Given the description of an element on the screen output the (x, y) to click on. 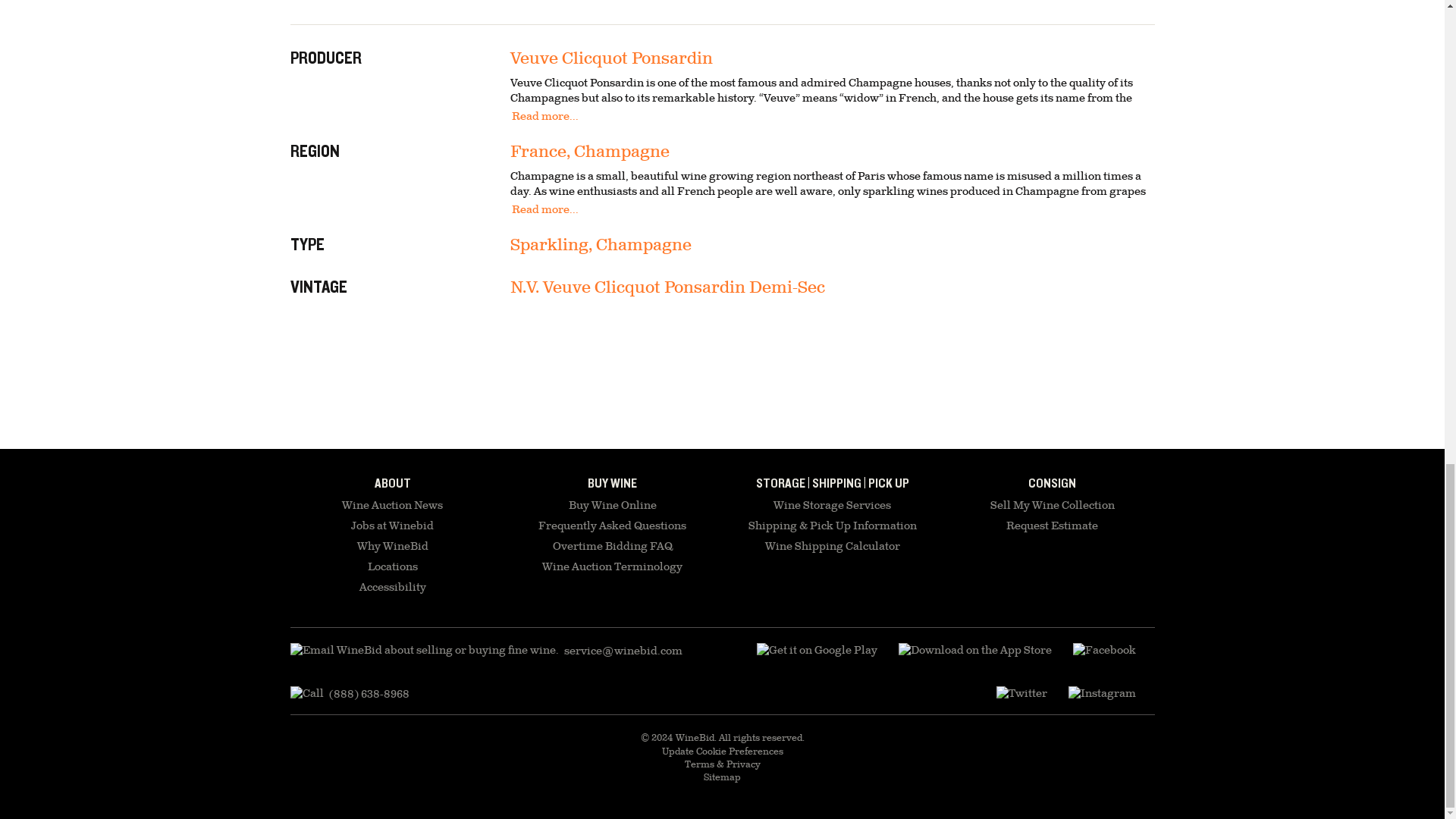
Download on the App Store (974, 650)
Facebook (1103, 650)
Instagram (1101, 694)
Call WineBid about selling or buying fine wine. (349, 694)
Twitter (1020, 694)
Download on the App Store (817, 650)
Email (485, 650)
